Given the description of an element on the screen output the (x, y) to click on. 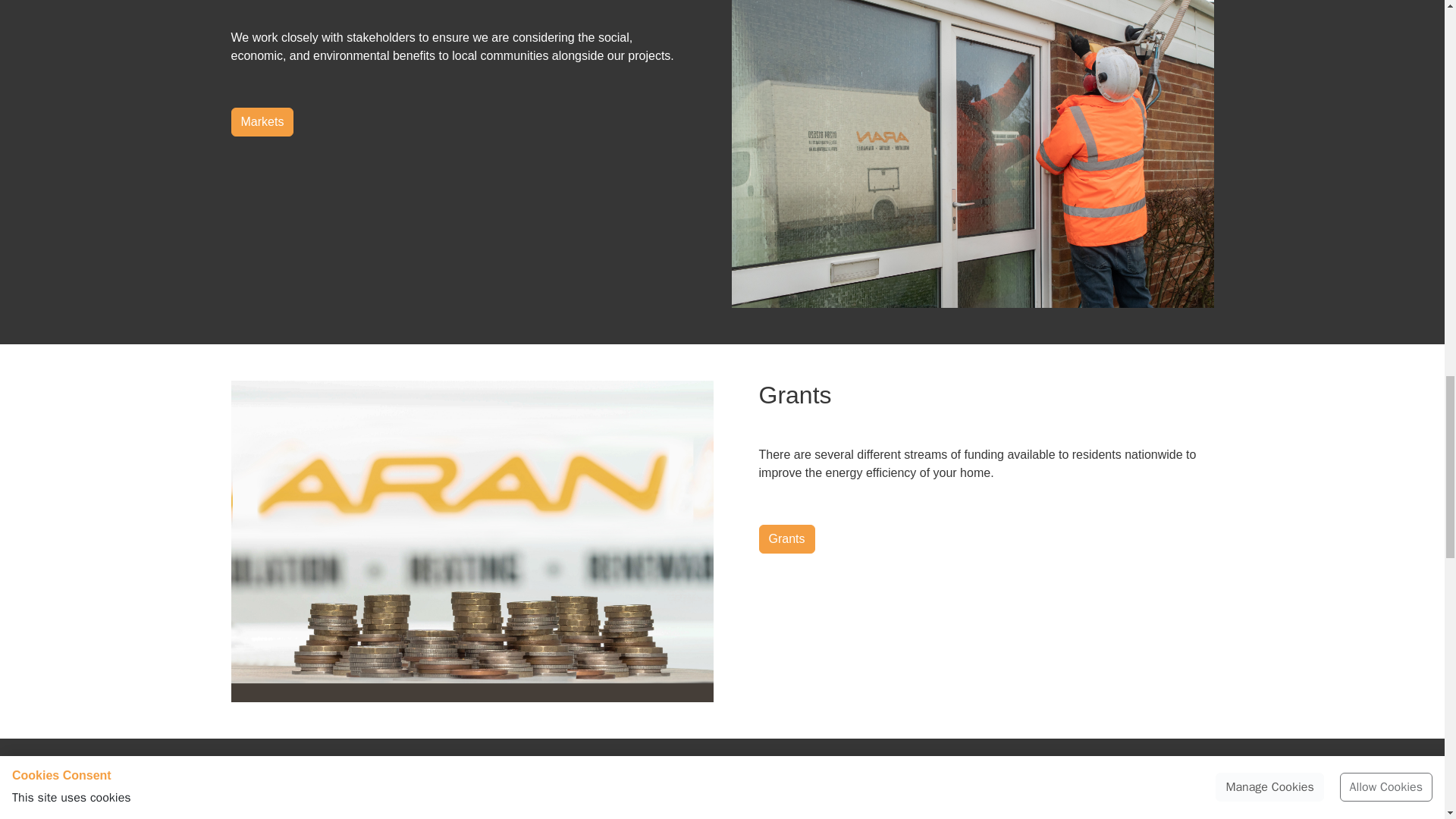
Markets (262, 121)
Grants (785, 538)
Markets (262, 121)
Grants (785, 538)
